Given the description of an element on the screen output the (x, y) to click on. 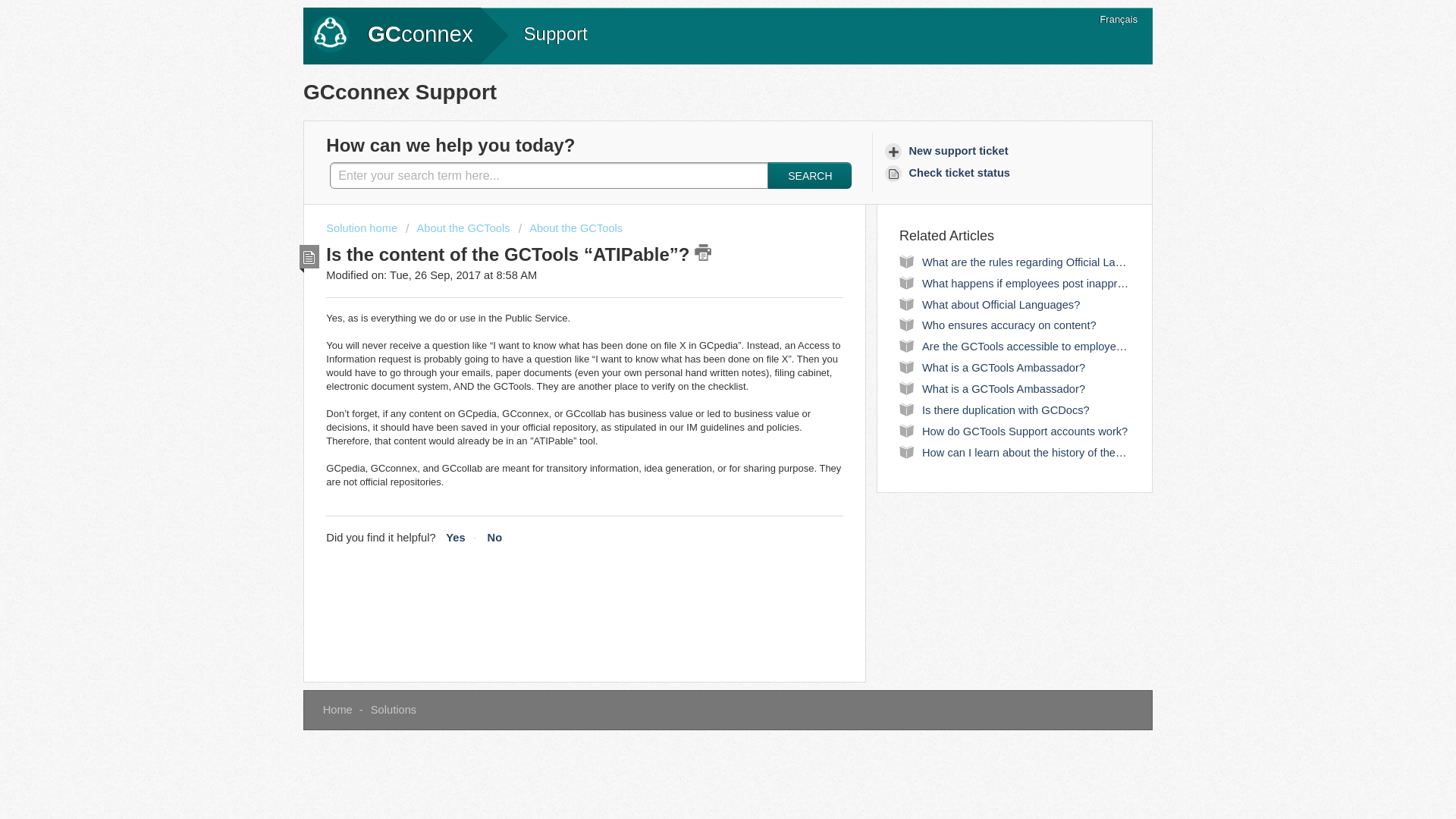
About the GCTools (457, 227)
What is a GCTools Ambassador? (1002, 388)
SEARCH (809, 175)
Are the GCTools accessible to employees with disabilities? (1066, 346)
What is a GCTools Ambassador? (1002, 367)
Solutions (393, 709)
Who ensures accuracy on content? (1008, 325)
Home (337, 709)
How can I learn about the history of the GCTools? (1044, 452)
